Given the description of an element on the screen output the (x, y) to click on. 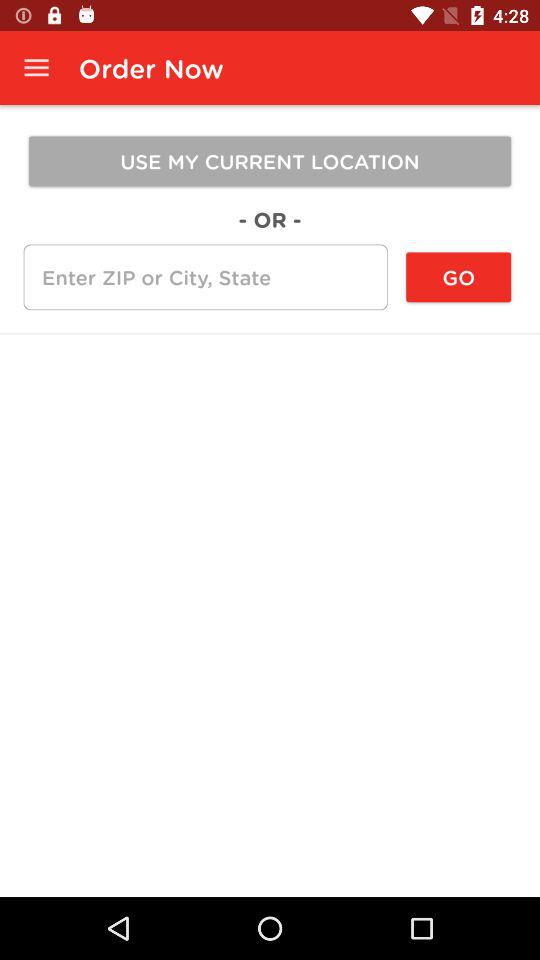
tap the - or - (269, 219)
